Given the description of an element on the screen output the (x, y) to click on. 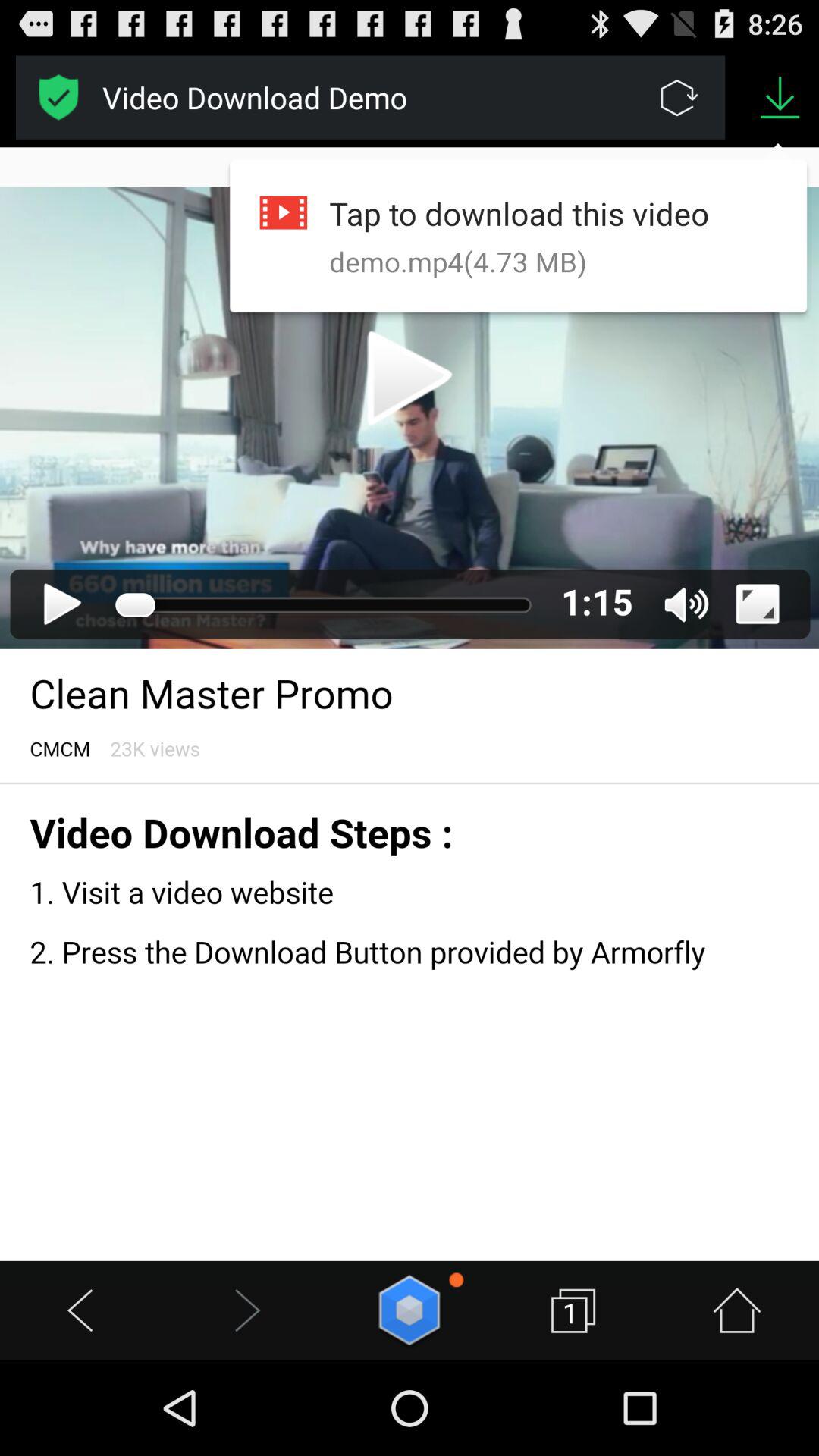
app background (409, 703)
